Given the description of an element on the screen output the (x, y) to click on. 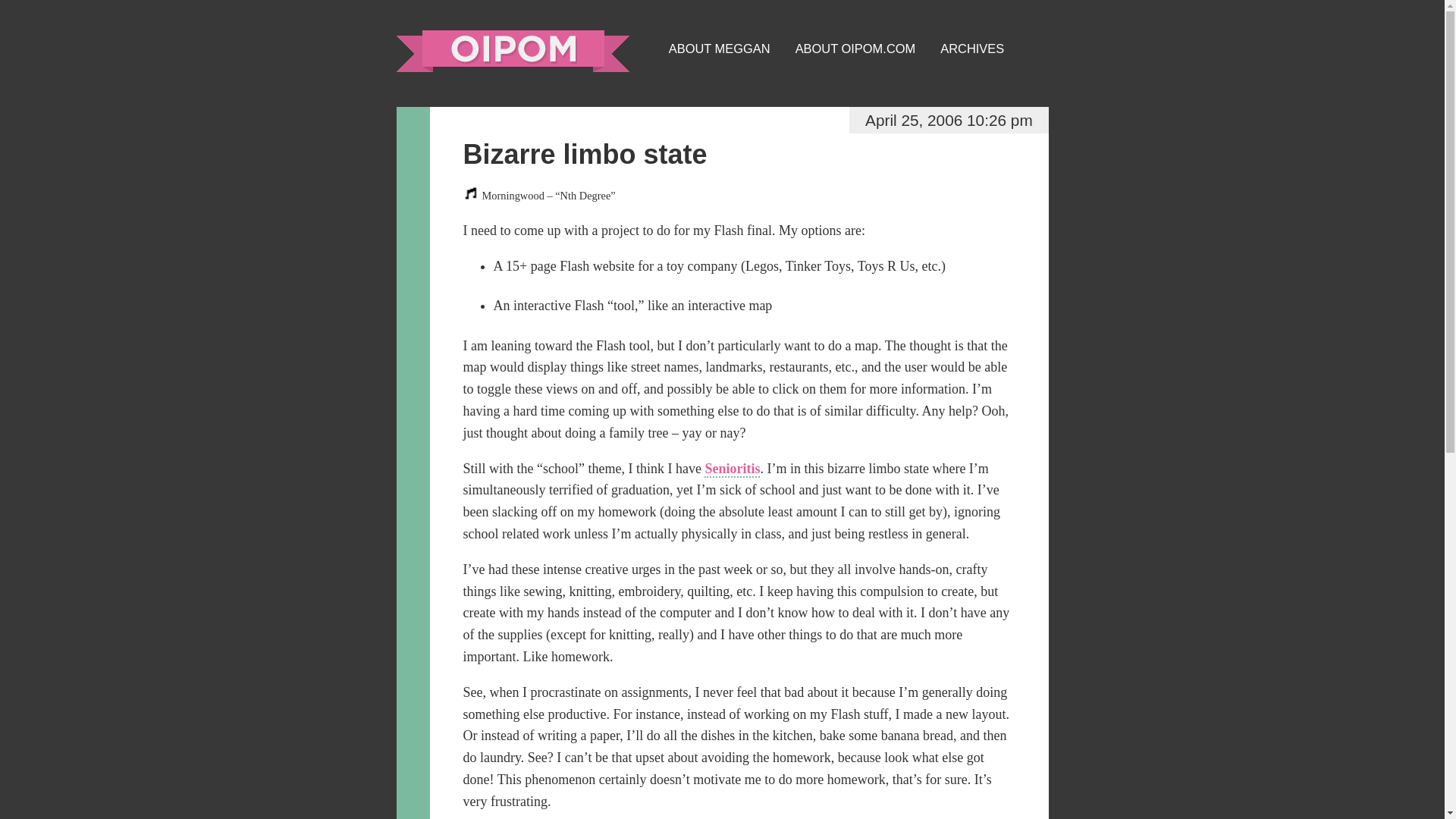
ABOUT MEGGAN (719, 47)
oipom.com (512, 51)
ABOUT OIPOM.COM (855, 47)
Bizarre limbo state (584, 153)
Bizarre limbo state (584, 153)
Senioritis (732, 469)
ARCHIVES (972, 47)
